Given the description of an element on the screen output the (x, y) to click on. 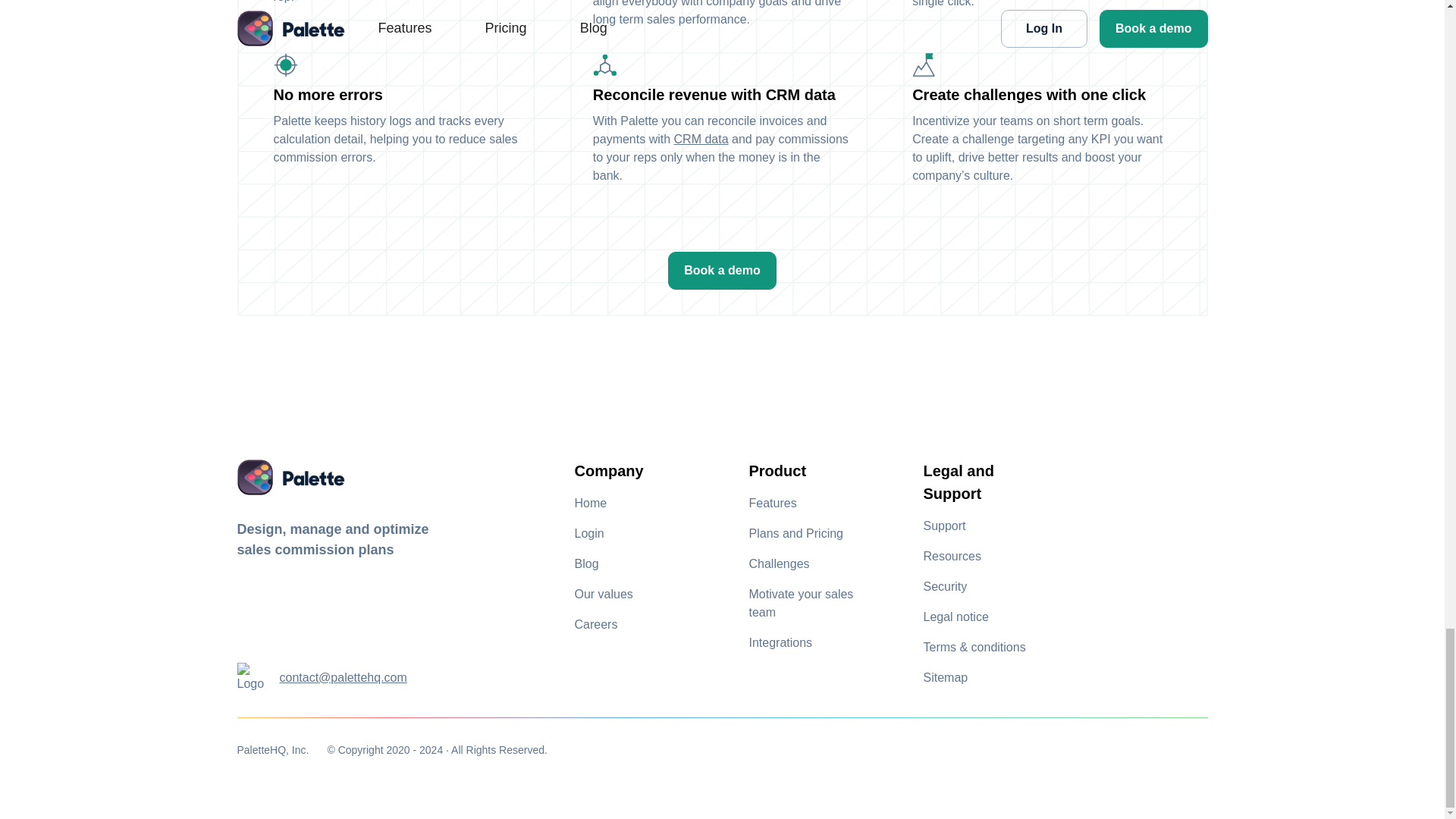
Integrations (780, 643)
Book a demo (722, 270)
Features (772, 503)
CRM data (701, 138)
Challenges (779, 563)
Our values (604, 594)
Motivate your sales team (813, 603)
Resources (952, 556)
Plans and Pricing (796, 533)
Support (944, 526)
